Given the description of an element on the screen output the (x, y) to click on. 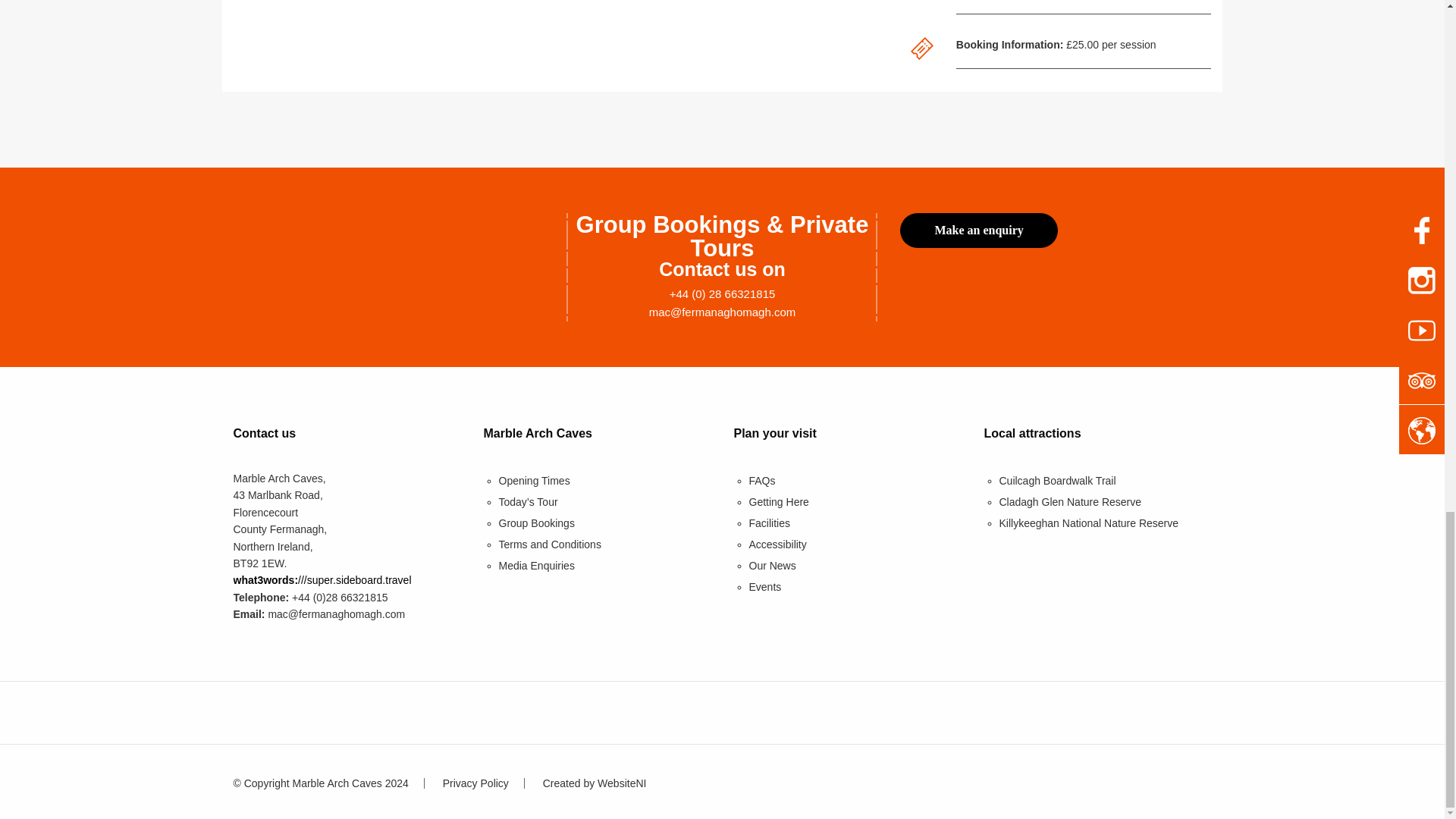
Make a booking (978, 230)
Privacy Policy (475, 783)
web design Belfast (594, 783)
